Given the description of an element on the screen output the (x, y) to click on. 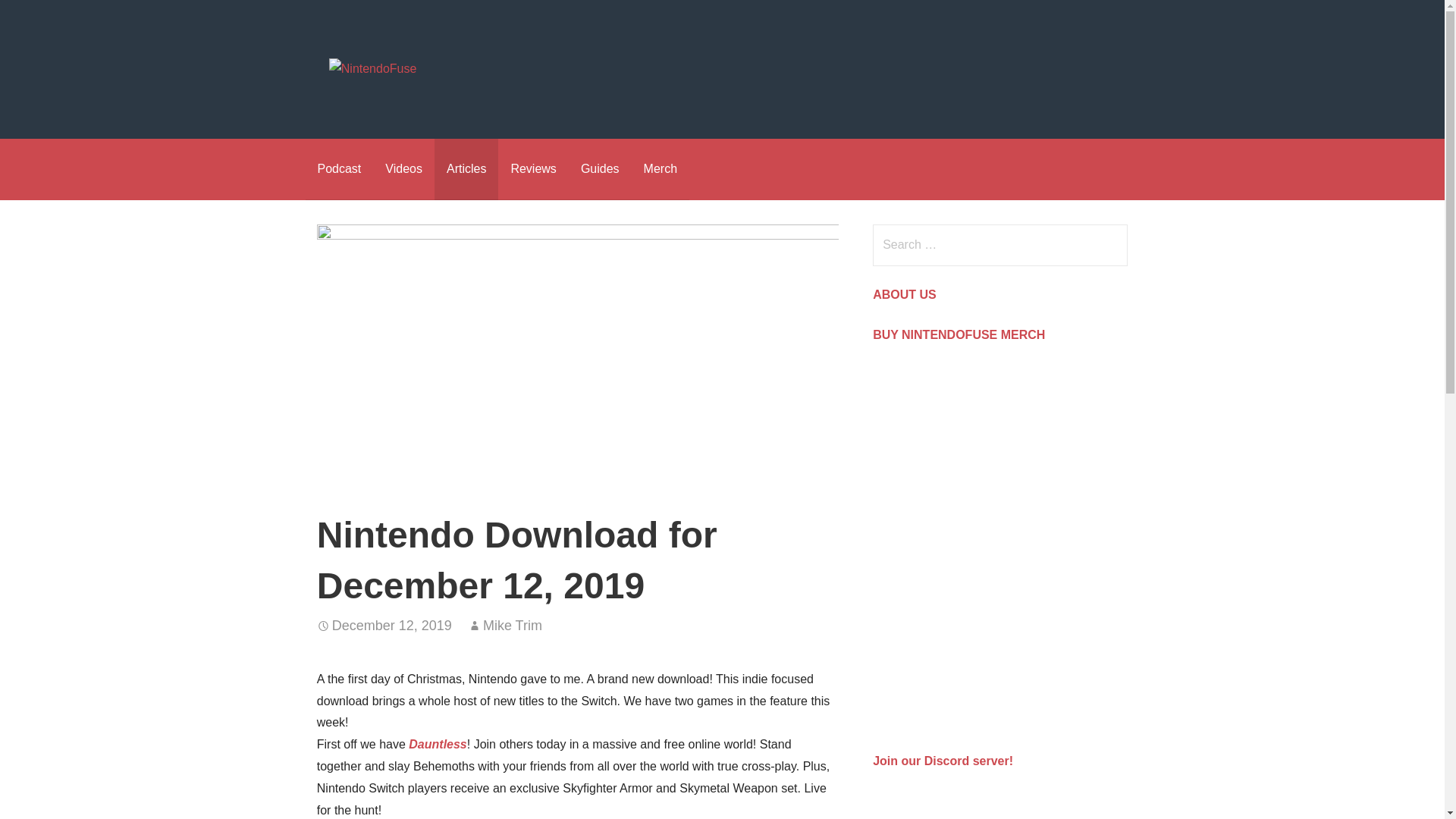
Dauntless (437, 744)
BUY NINTENDOFUSE MERCH (958, 334)
ABOUT US (904, 294)
Guides (600, 168)
Reviews (532, 168)
Search (42, 18)
Mike Trim (512, 625)
Merch (659, 168)
Articles (465, 168)
Join our Discord server! (942, 760)
Posts by Mike Trim (512, 625)
Videos (402, 168)
Podcast (338, 168)
